Given the description of an element on the screen output the (x, y) to click on. 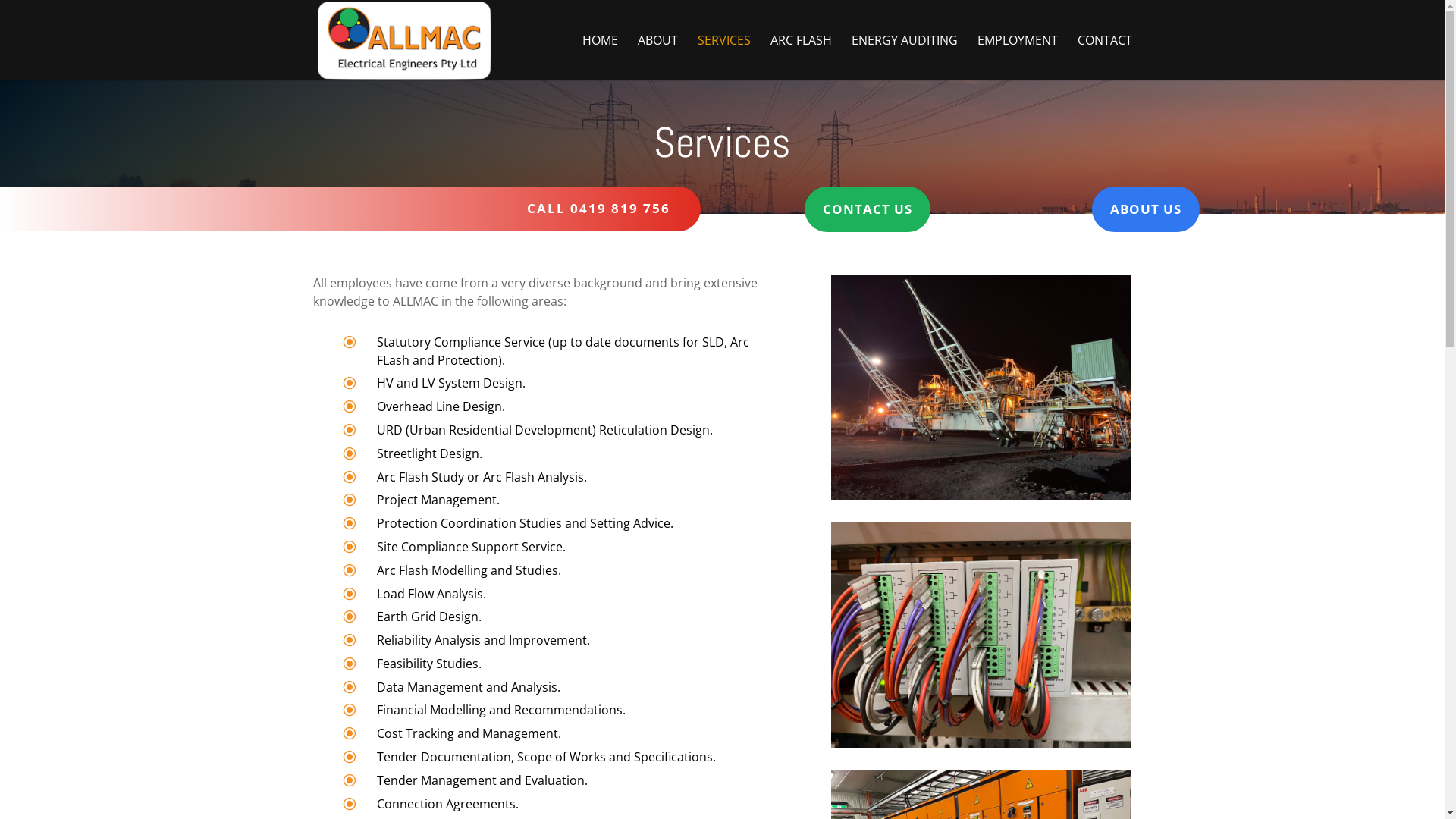
allmac1 Element type: hover (981, 634)
allmac9 Element type: hover (981, 386)
SERVICES Element type: text (723, 57)
CONTACT US Element type: text (867, 209)
CONTACT Element type: text (1103, 57)
ABOUT Element type: text (657, 57)
EMPLOYMENT Element type: text (1016, 57)
CALL 0419 819 756 Element type: text (598, 207)
ARC FLASH Element type: text (800, 57)
HOME Element type: text (600, 57)
ENERGY AUDITING Element type: text (903, 57)
ABOUT US Element type: text (1145, 209)
